Given the description of an element on the screen output the (x, y) to click on. 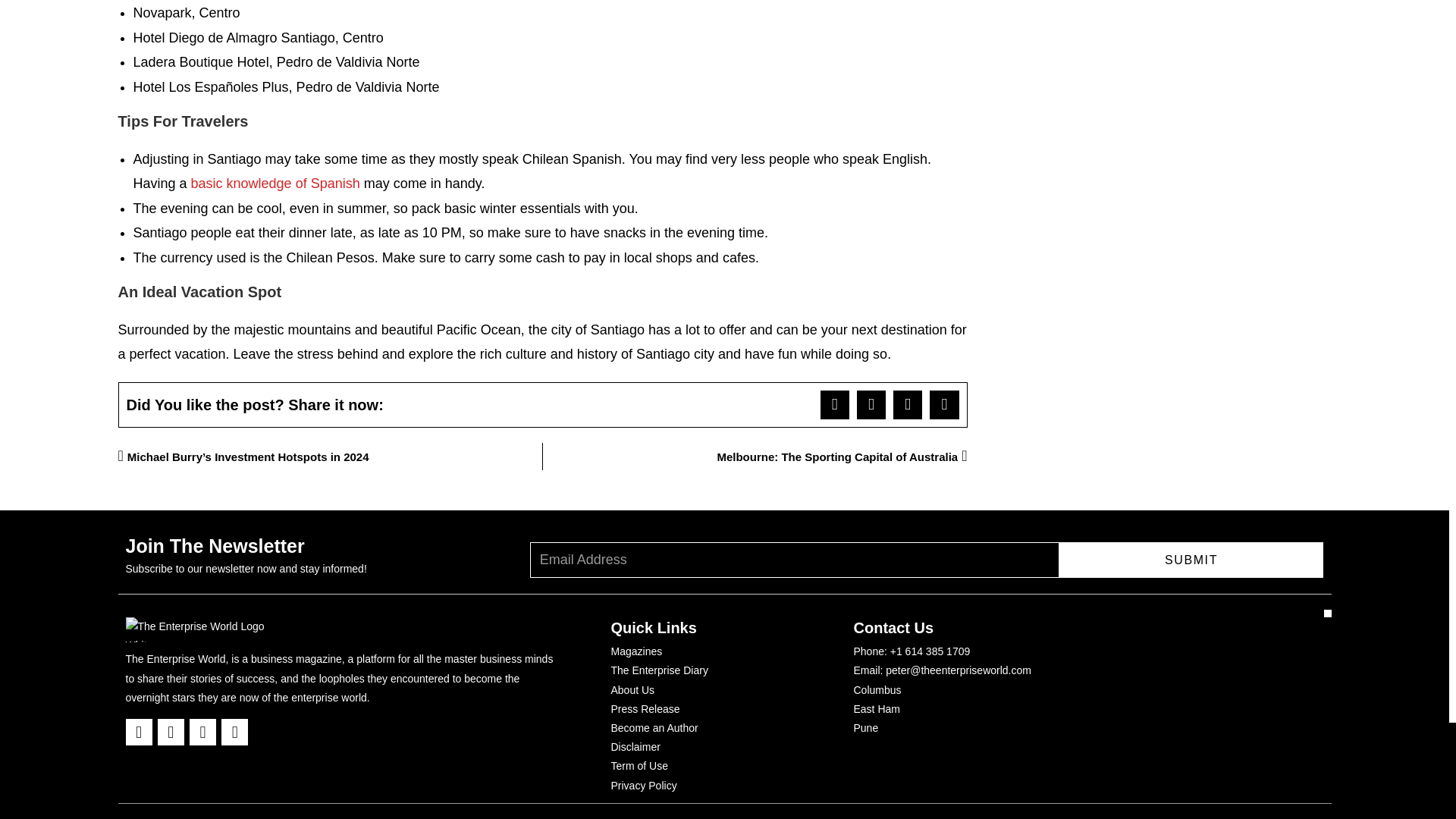
The Enterprise Diary (659, 670)
About Us (633, 690)
Melbourne: The Sporting Capital of Australia (755, 456)
Magazines (636, 651)
basic knowledge of Spanish (274, 183)
SUBMIT (1191, 560)
